Given the description of an element on the screen output the (x, y) to click on. 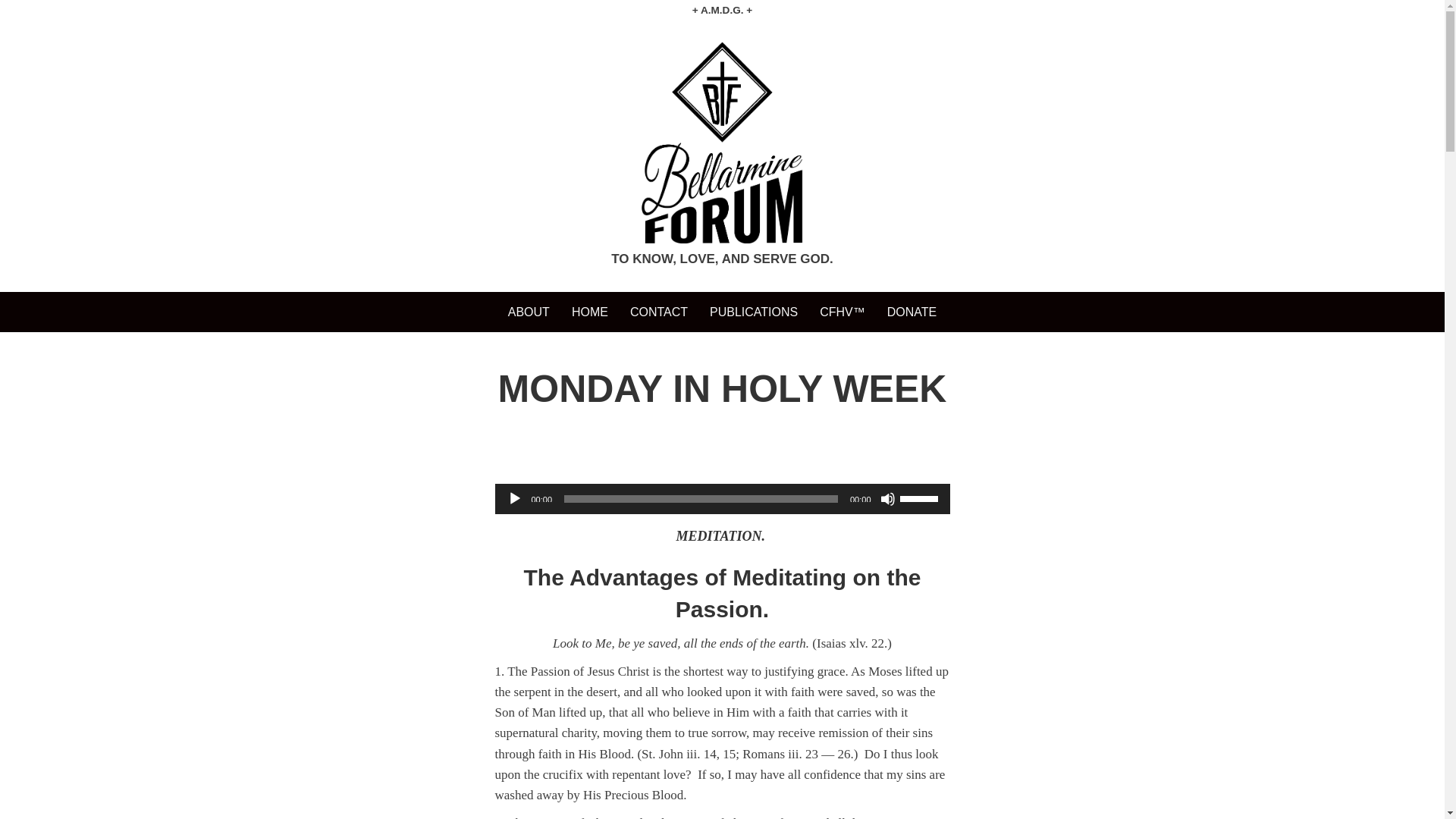
Play (513, 498)
HOME (589, 311)
ABOUT (528, 311)
CONTACT (659, 311)
PUBLICATIONS (753, 311)
DONATE (911, 311)
Mute (887, 498)
